Given the description of an element on the screen output the (x, y) to click on. 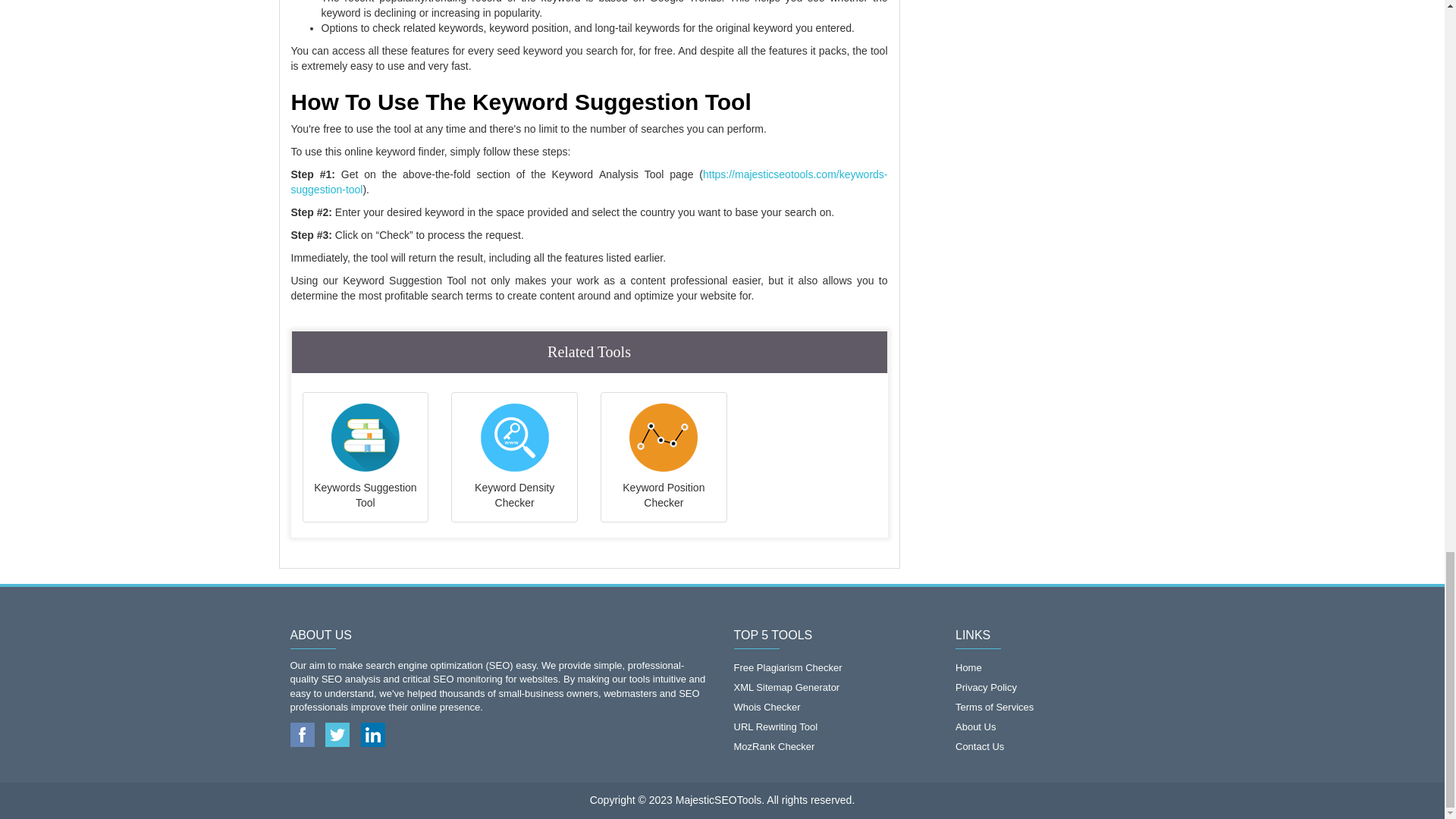
Keyword Density Checker (513, 457)
URL Rewriting Tool (833, 727)
XML Sitemap Generator (833, 687)
Keywords Suggestion Tool (365, 457)
Keyword Position Checker (663, 457)
Keyword Density Checker (513, 457)
Free Plagiarism Checker (833, 668)
Keywords Suggestion Tool (365, 457)
MozRank Checker (833, 746)
Keyword Position Checker (663, 457)
Whois Checker (833, 707)
